Given the description of an element on the screen output the (x, y) to click on. 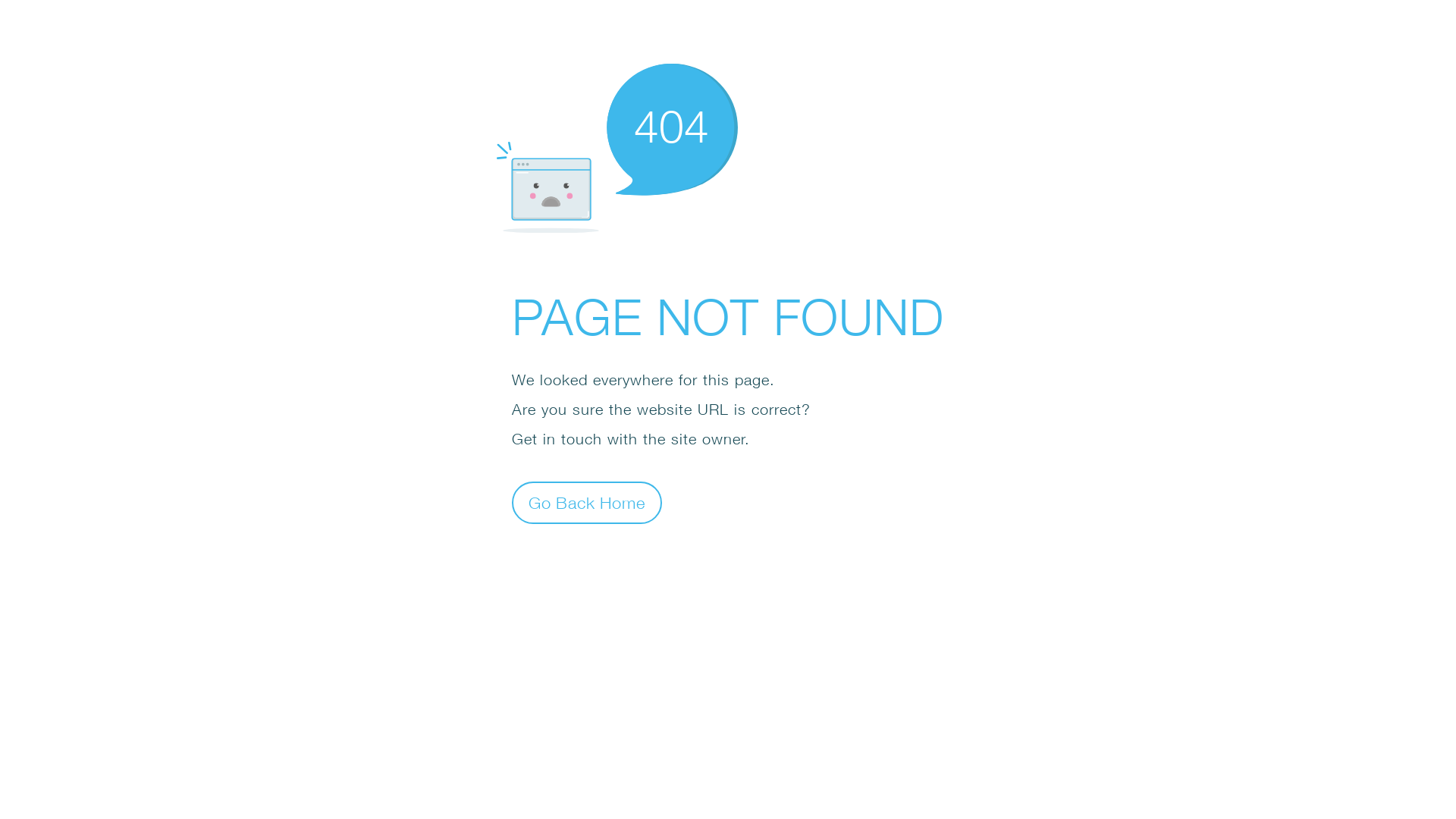
Go Back Home Element type: text (586, 502)
